Given the description of an element on the screen output the (x, y) to click on. 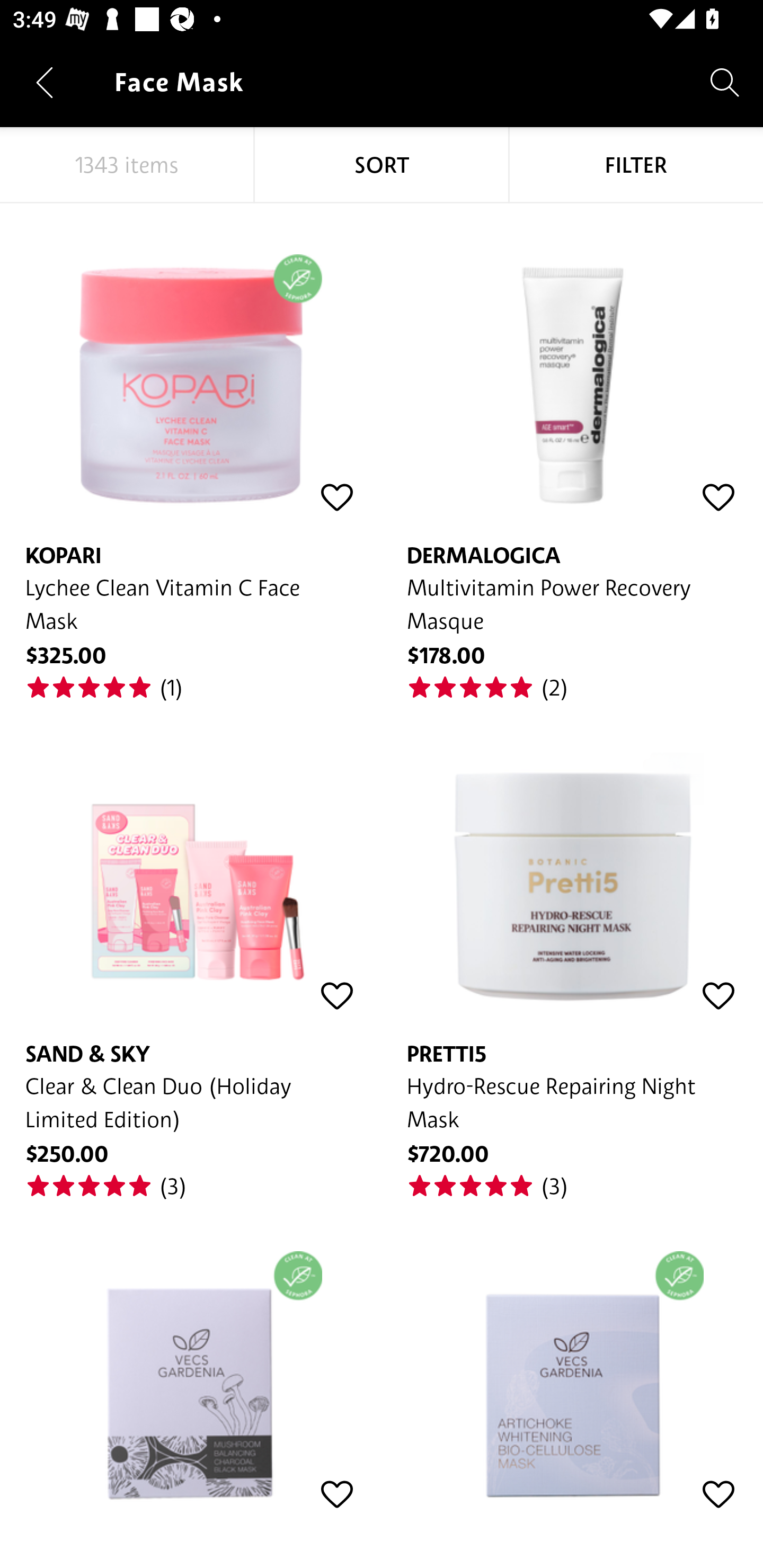
Navigate up (44, 82)
Search (724, 81)
SORT (381, 165)
FILTER (636, 165)
VECS GARDENIA (190, 1371)
VECS GARDENIA (571, 1371)
